Given the description of an element on the screen output the (x, y) to click on. 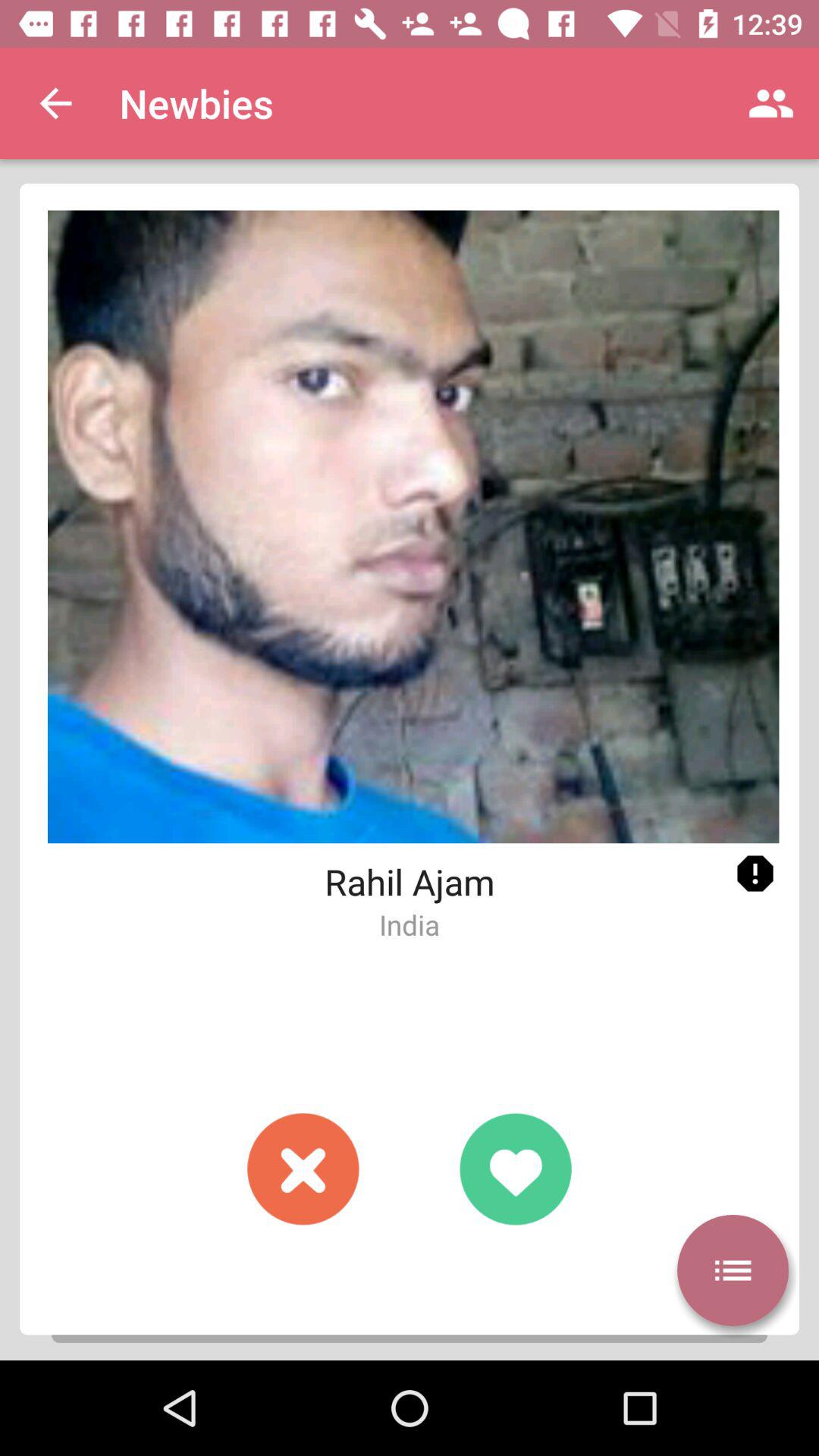
report (755, 873)
